Given the description of an element on the screen output the (x, y) to click on. 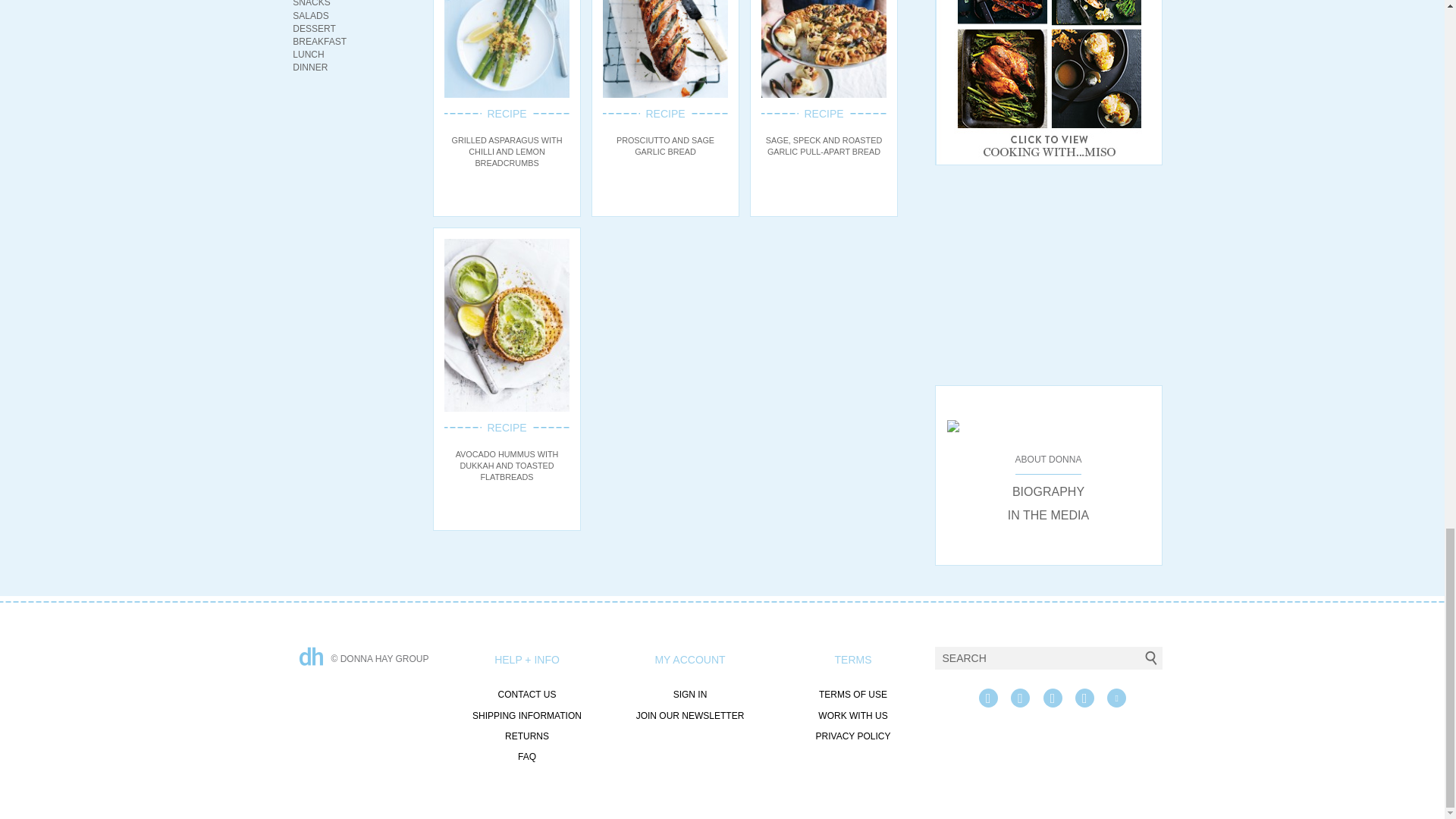
3rd party ad content (1047, 275)
